Given the description of an element on the screen output the (x, y) to click on. 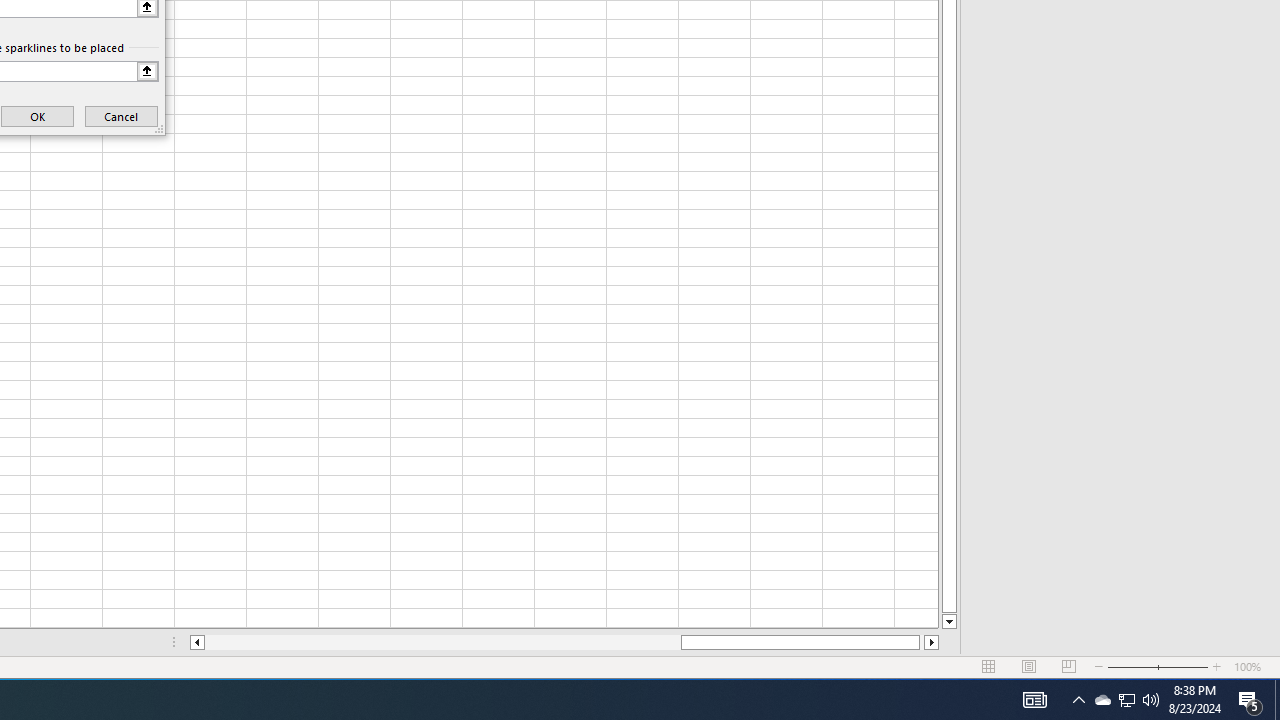
Page left (442, 642)
